Given the description of an element on the screen output the (x, y) to click on. 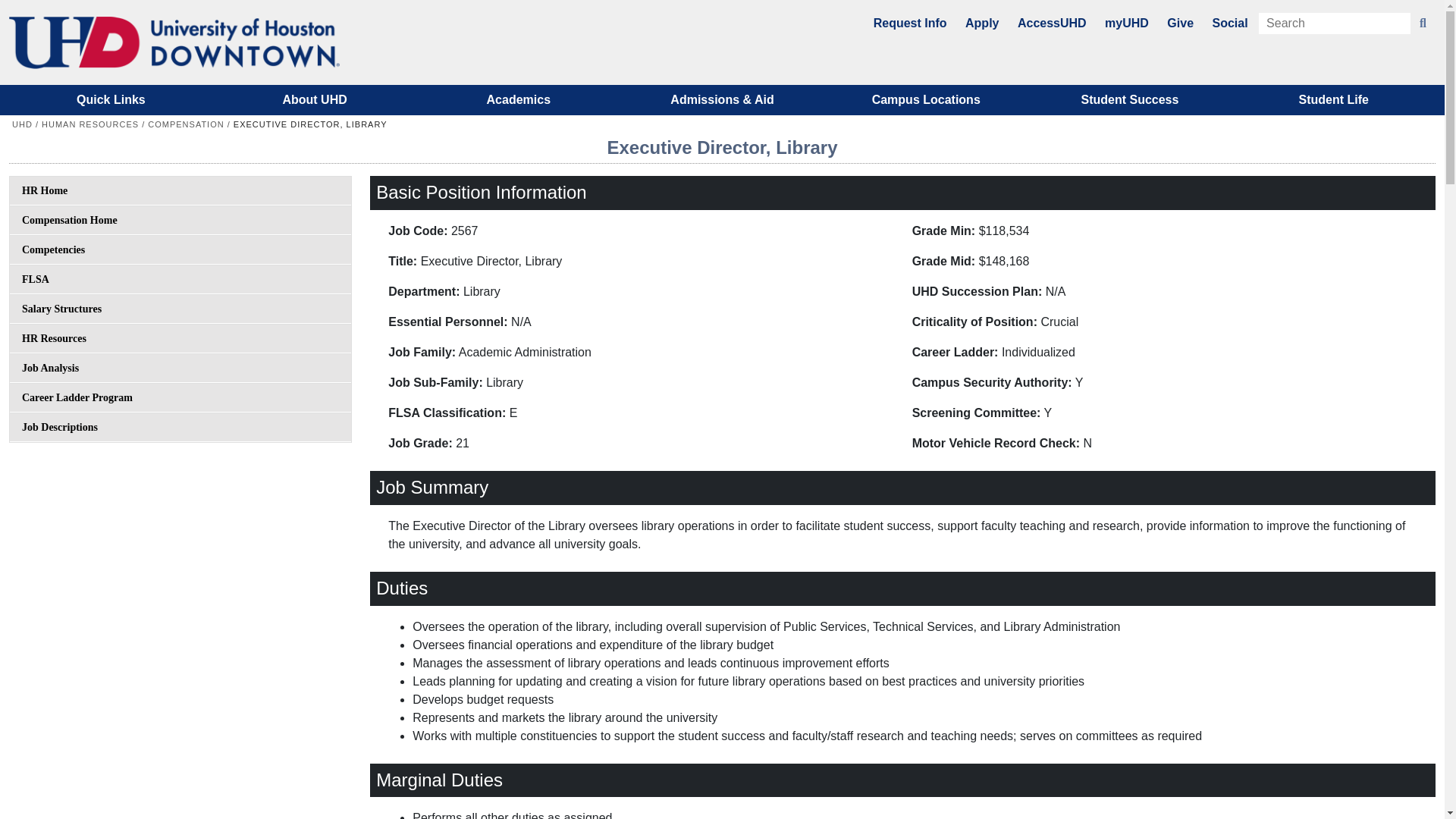
submit (1422, 23)
Give (1180, 22)
AccessUHD (1051, 22)
Apply (981, 22)
Quick Links (110, 100)
myUHD (1126, 22)
Request Info (910, 22)
Social (1229, 22)
